Given the description of an element on the screen output the (x, y) to click on. 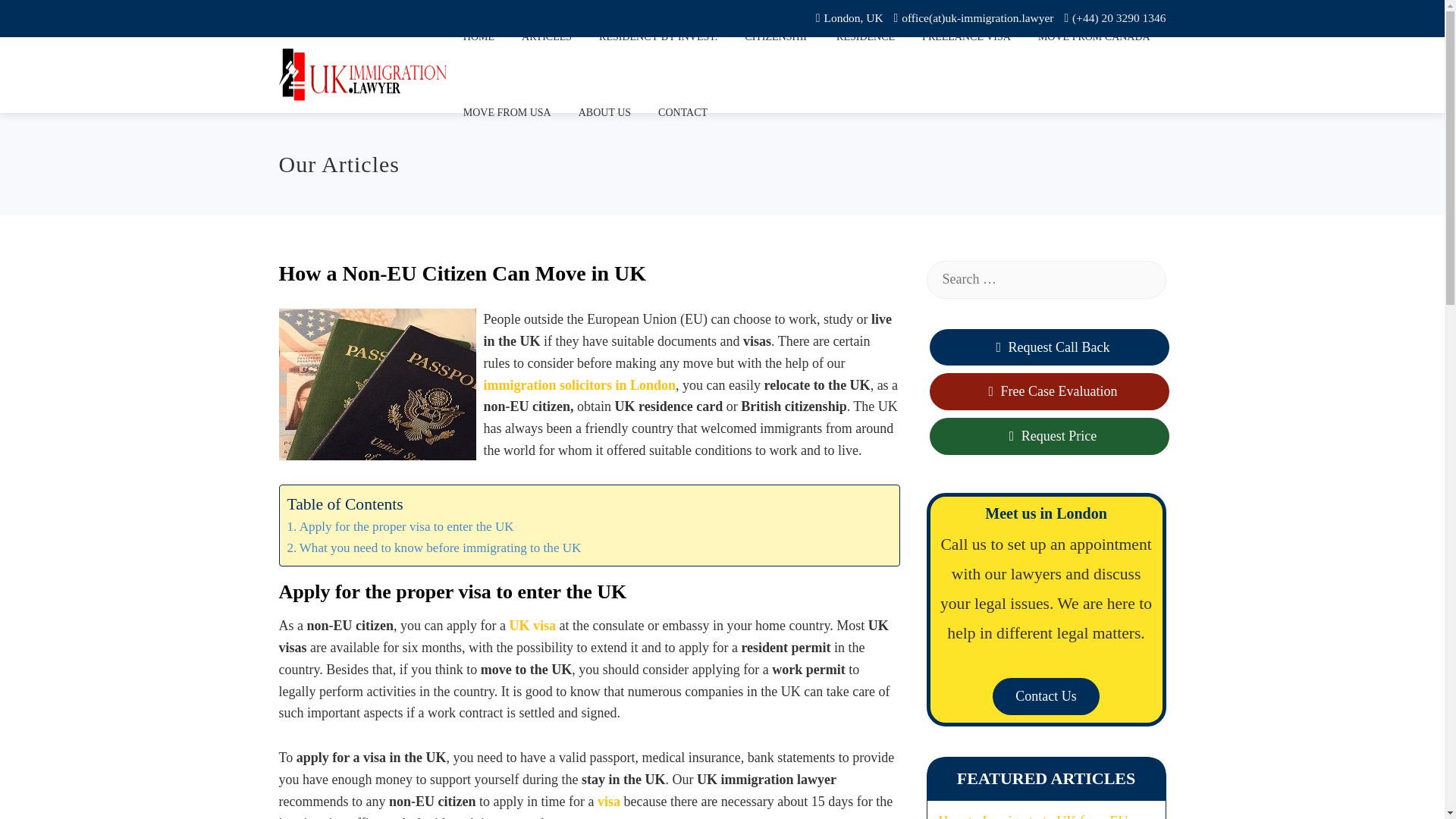
MOVE FROM USA (506, 112)
CONTACT (682, 112)
ABOUT US (604, 112)
MOVE FROM CANADA (1093, 37)
Apply for the proper visa to enter the UK (399, 526)
UK visa (533, 625)
What you need to know before immigrating to the UK (433, 547)
Search (37, 18)
CITIZENSHIP (777, 37)
immigration solicitors in London (580, 385)
